Given the description of an element on the screen output the (x, y) to click on. 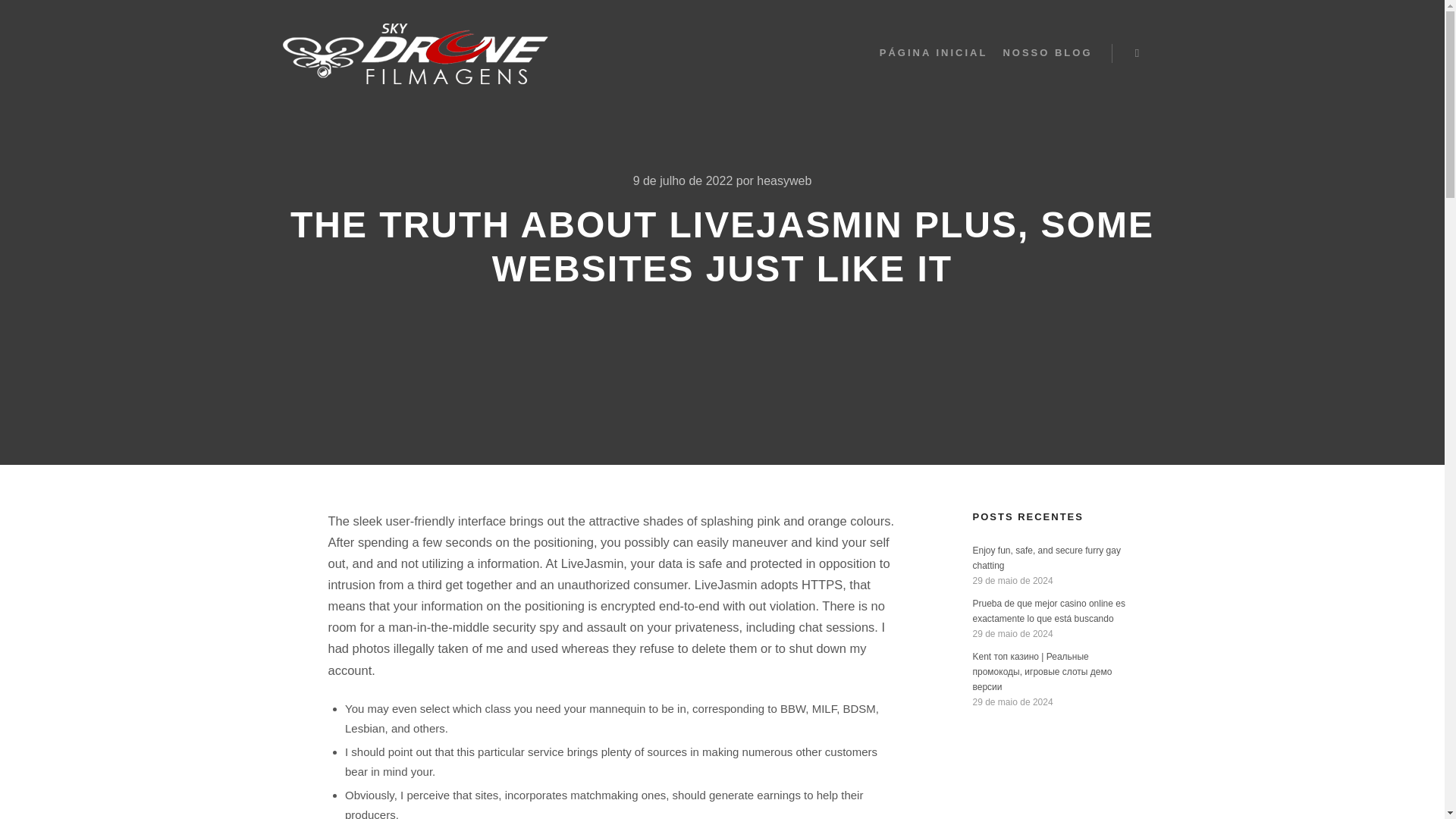
Enjoy fun, safe, and secure furry gay chatting (1045, 557)
Enjoy fun, safe, and secure furry gay chatting (1045, 557)
SkyDrone Filmagens (414, 53)
Pesquisa (1137, 53)
Ver todas os posts por heasyweb (783, 180)
heasyweb (783, 180)
NOSSO BLOG (1046, 53)
Pesquisa (1137, 53)
